Given the description of an element on the screen output the (x, y) to click on. 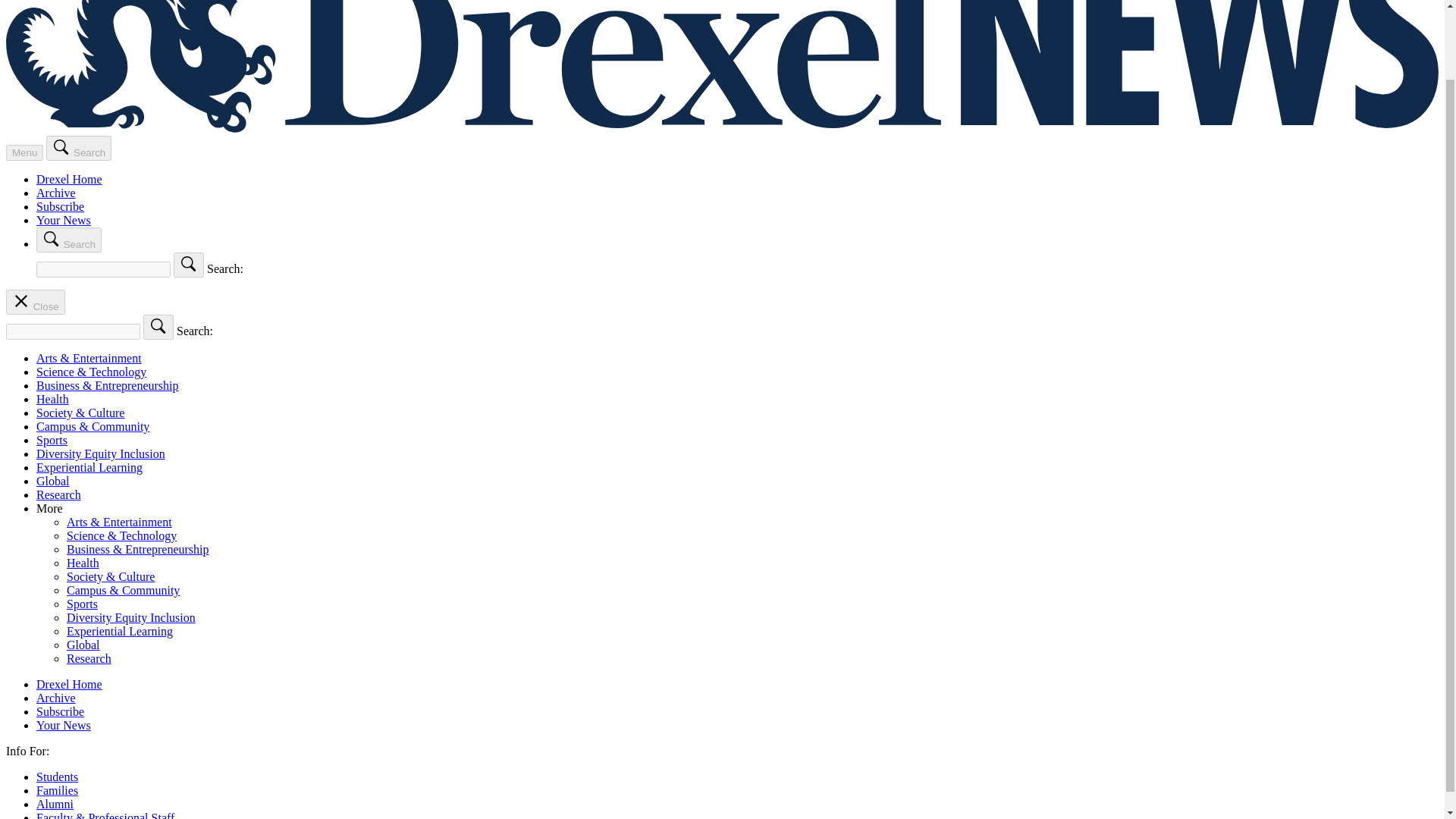
Global (52, 481)
Subscribe (60, 711)
Your News (63, 219)
Menu (24, 152)
Search (68, 239)
Students (57, 776)
Your News (63, 725)
Families (57, 789)
Health (52, 399)
Experiential Learning (119, 631)
Search (79, 147)
Research (58, 494)
Close (35, 301)
Research (89, 658)
Experiential Learning (89, 467)
